Given the description of an element on the screen output the (x, y) to click on. 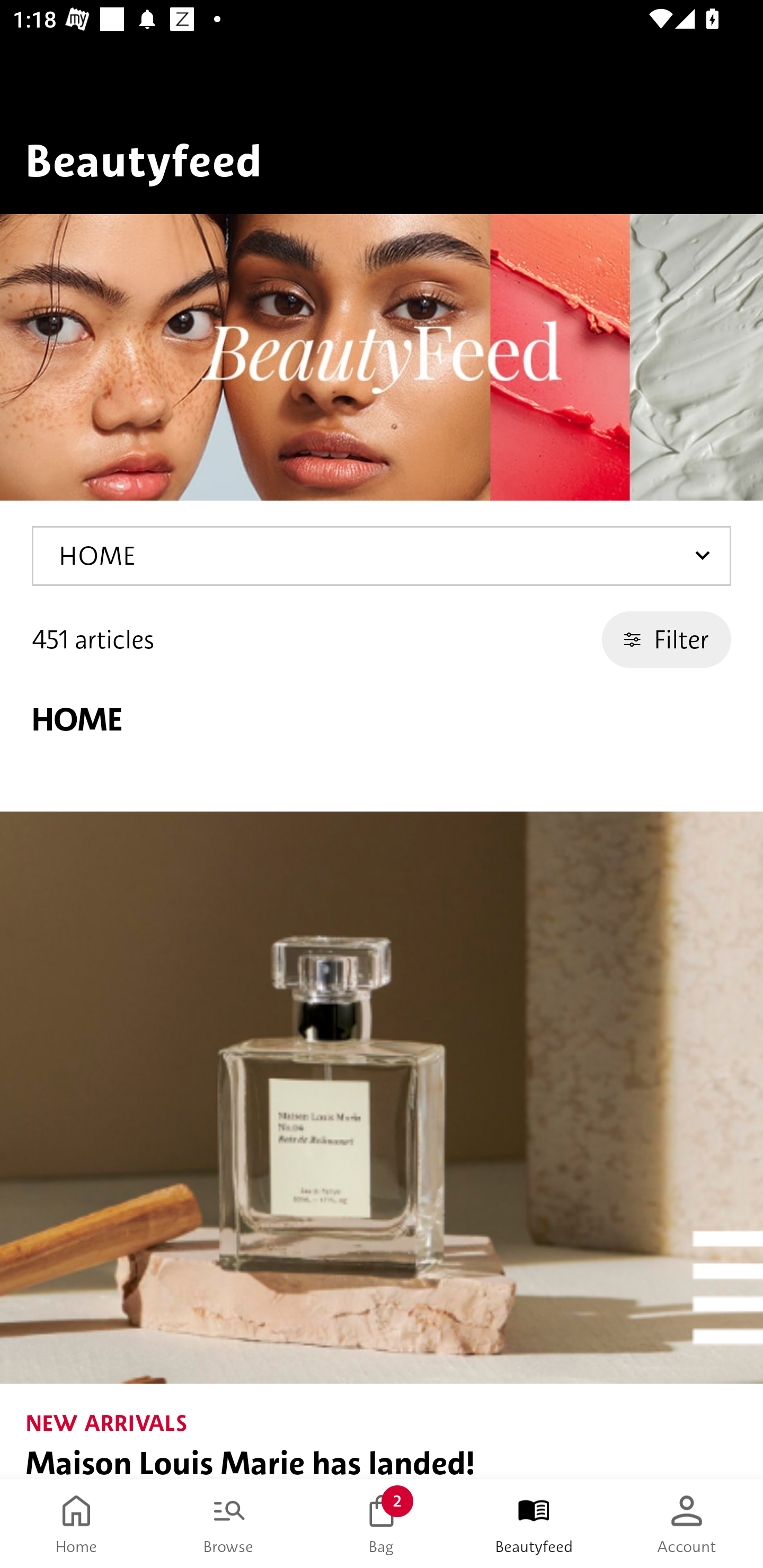
HOME (381, 555)
Filter (666, 639)
NEW ARRIVALS Maison Louis Marie has landed! (381, 1145)
Home (76, 1523)
Browse (228, 1523)
Bag 2 Bag (381, 1523)
Account (686, 1523)
